Given the description of an element on the screen output the (x, y) to click on. 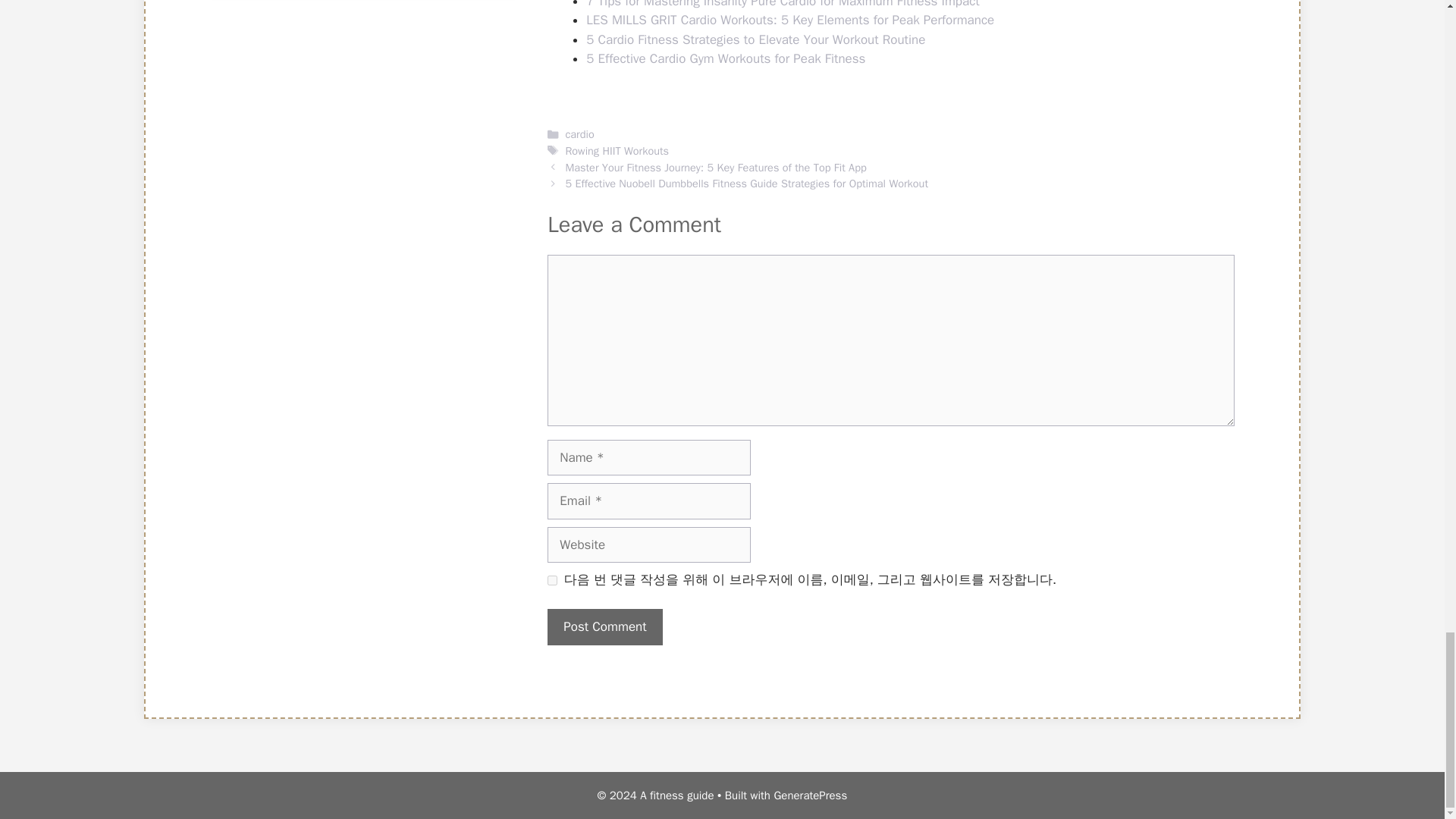
Rowing HIIT Workouts (616, 151)
yes (552, 580)
5 Effective Cardio Gym Workouts for Peak Fitness (725, 58)
cardio (579, 133)
5 Cardio Fitness Strategies to Elevate Your Workout Routine (755, 39)
Post Comment (604, 627)
